Given the description of an element on the screen output the (x, y) to click on. 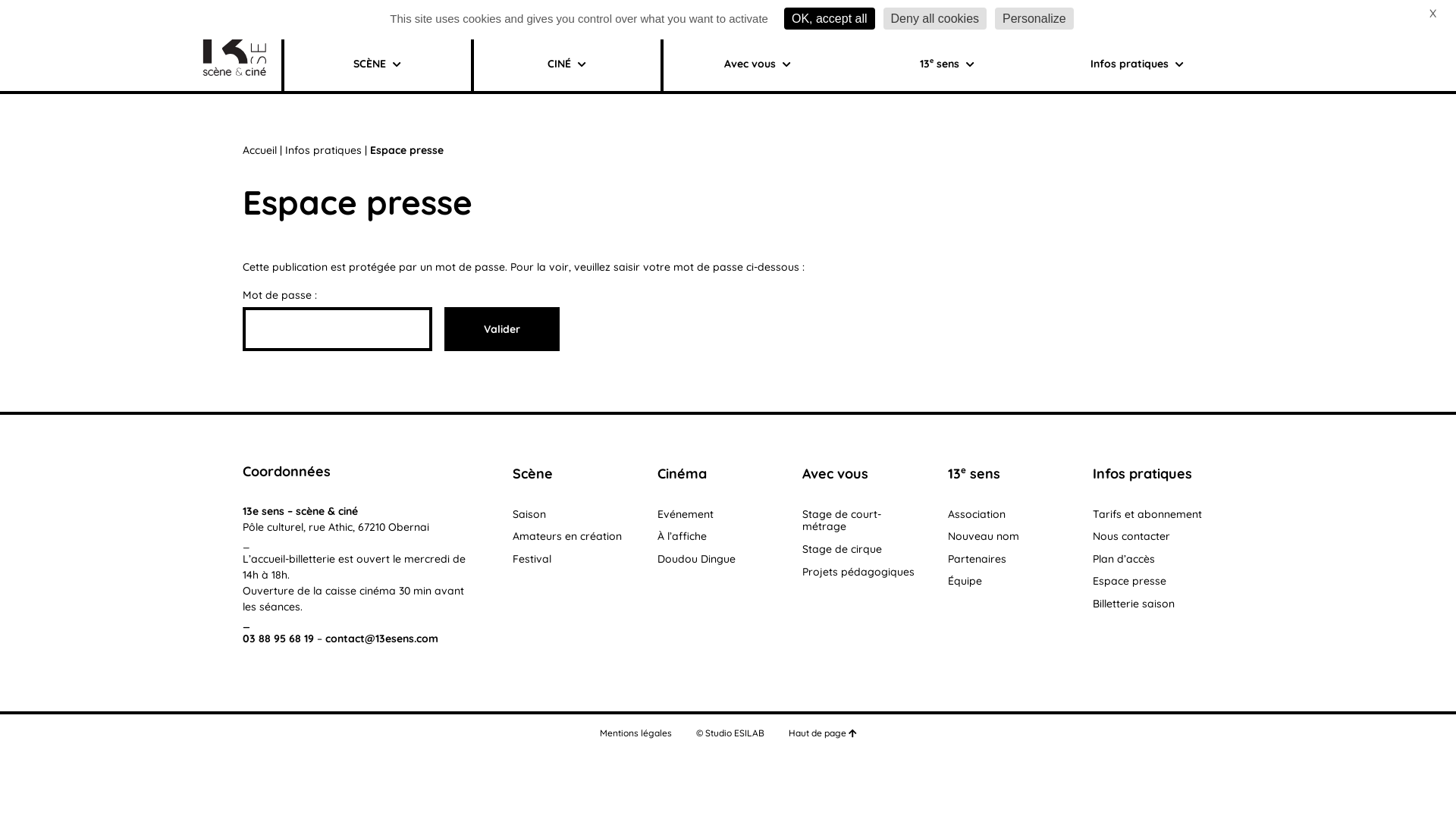
Accueil Element type: text (259, 149)
S'abonner Element type: text (1196, 107)
Deny all cookies Element type: text (935, 18)
Stage de cirque Element type: text (841, 548)
Avec vous Element type: text (758, 63)
Festival Element type: text (531, 558)
Association Element type: text (976, 513)
Infos pratiques Element type: text (1137, 63)
Tarifs et abonnement Element type: text (1146, 513)
13e sens Element type: text (947, 63)
Partenaires Element type: text (976, 558)
Personalize Element type: text (1033, 18)
Billetterie saison Element type: text (346, 16)
Avec vous Element type: text (835, 473)
13e sens Element type: text (973, 473)
Billetterie saison Element type: text (1133, 603)
Infos pratiques Element type: text (1142, 473)
OK, accept all Element type: text (829, 18)
Espace presse Element type: text (1129, 580)
Nouveau nom Element type: text (983, 535)
Haut de page Element type: text (822, 732)
Nous contacter Element type: text (1131, 535)
Saison Element type: text (529, 513)
Doudou Dingue Element type: text (696, 558)
Infos pratiques Element type: text (323, 149)
Valider Element type: text (501, 329)
